Given the description of an element on the screen output the (x, y) to click on. 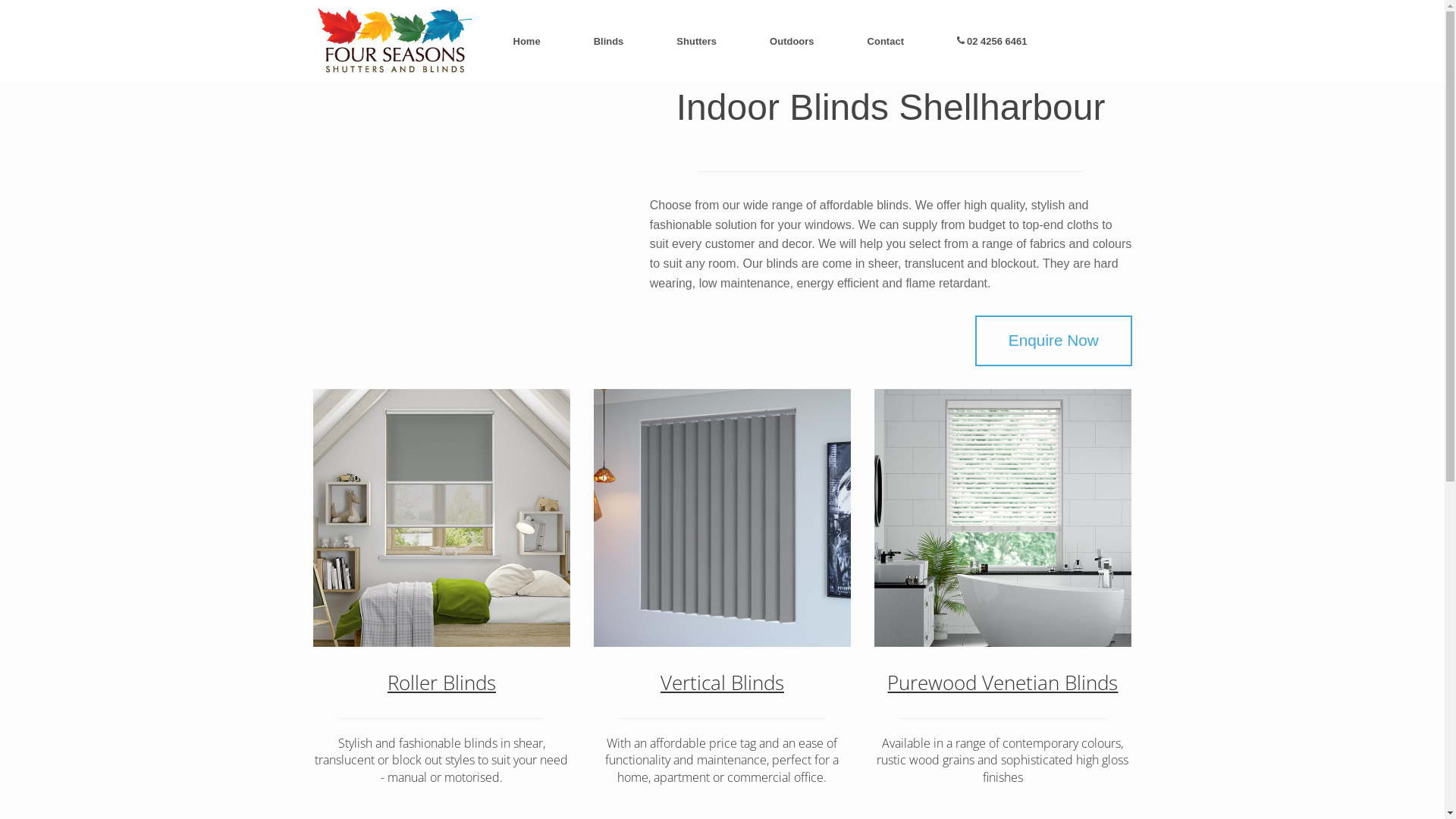
Four Seasons Shutters and Blinds Element type: hover (393, 40)
Contact Element type: text (885, 41)
Vertical Blinds Element type: text (722, 682)
vertical-blind Element type: hover (721, 517)
Purewood Venetians Element type: hover (1002, 517)
Shutters Element type: text (696, 41)
Home Element type: text (526, 41)
Blinds Element type: text (608, 41)
02 4256 6461 Element type: text (992, 41)
Purewood Venetian Blinds Element type: text (1002, 682)
Outdoors Element type: text (791, 41)
Roller Blinds Element type: text (441, 682)
Enquire Now Element type: text (1053, 340)
